Given the description of an element on the screen output the (x, y) to click on. 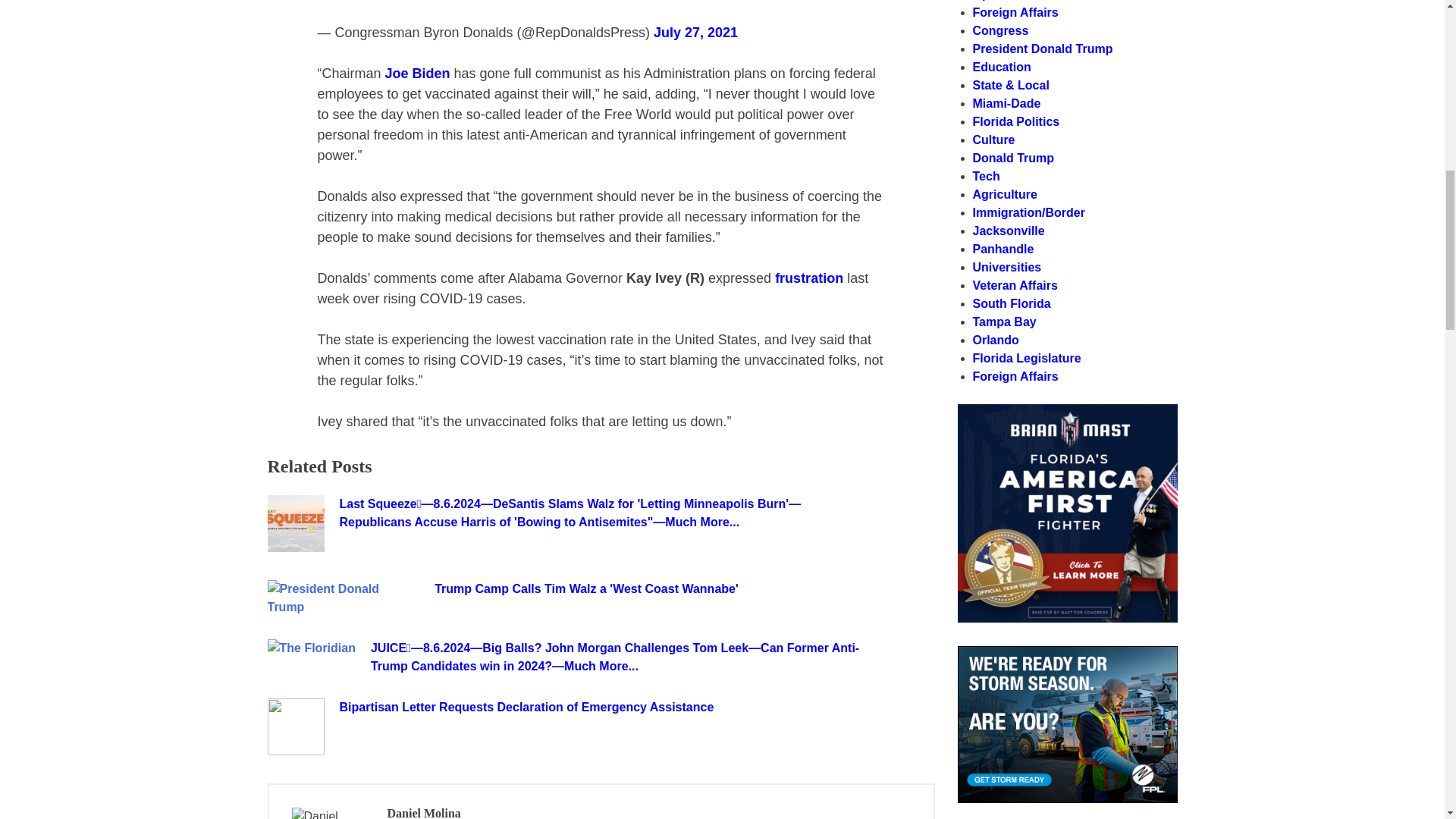
July 27, 2021 (695, 32)
Search (1138, 419)
Trump Camp Calls Tim Walz a 'West Coast Wannabe' (683, 588)
Partnering To Reduce Recidivism (1066, 617)
Search (1138, 419)
Search (1138, 419)
frustration (808, 278)
Joe Biden (417, 73)
